Given the description of an element on the screen output the (x, y) to click on. 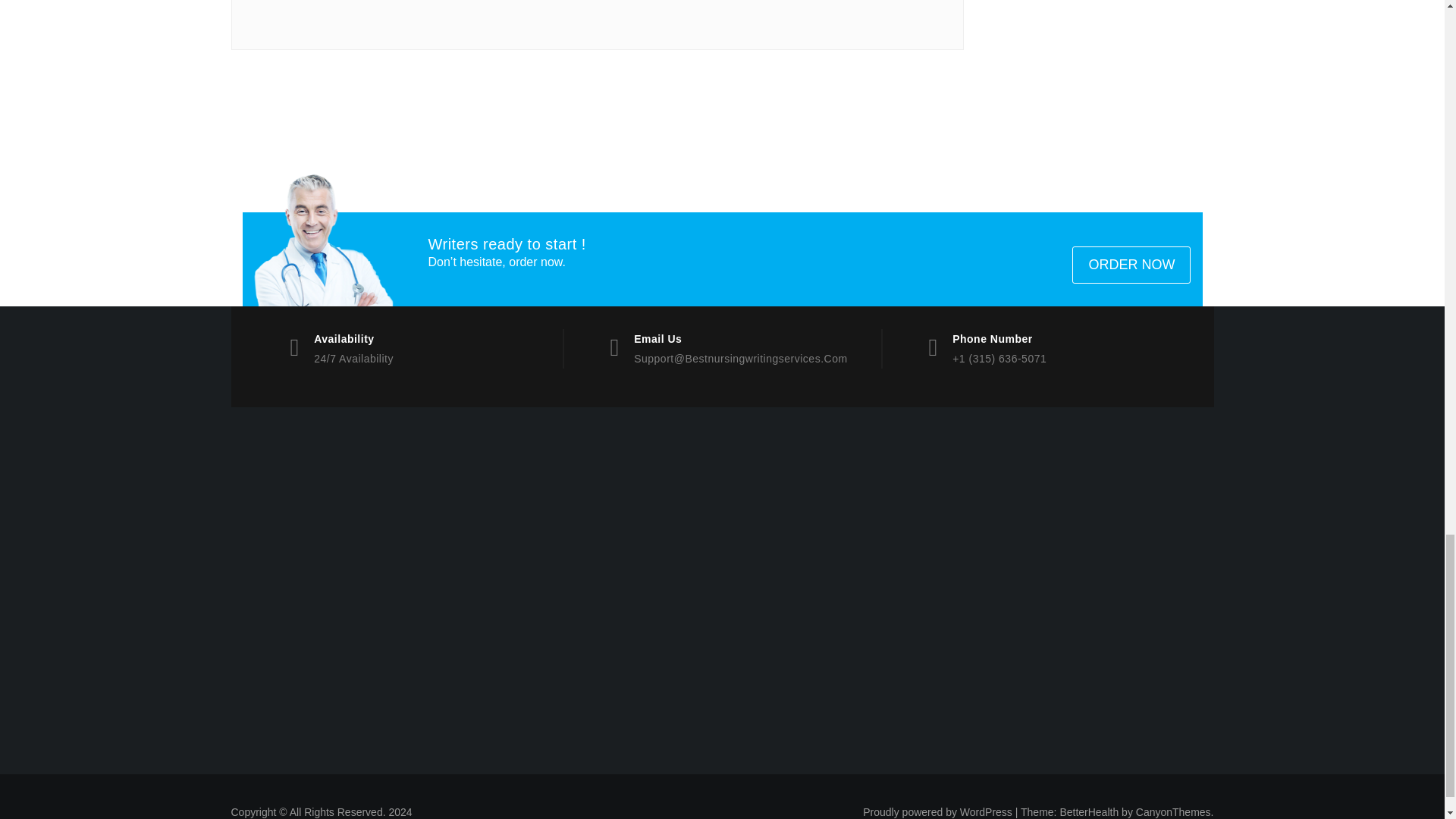
Nursing Essay (846, 558)
Nursing Report (346, 522)
Best Nursing Dissertation Help Services (846, 522)
Paper Nursing (596, 593)
Thesis Nursing (596, 558)
Reviews (846, 593)
Nursing Presentation (596, 487)
Nursing Scholarship essay (846, 487)
Nursing Homework (346, 593)
ORDER NOW (1131, 264)
Nursing Case Study (1096, 558)
Nursing Term Paper (346, 700)
Nursing Research (1096, 522)
Nursing Speeches (346, 629)
nursing writing (346, 665)
